Given the description of an element on the screen output the (x, y) to click on. 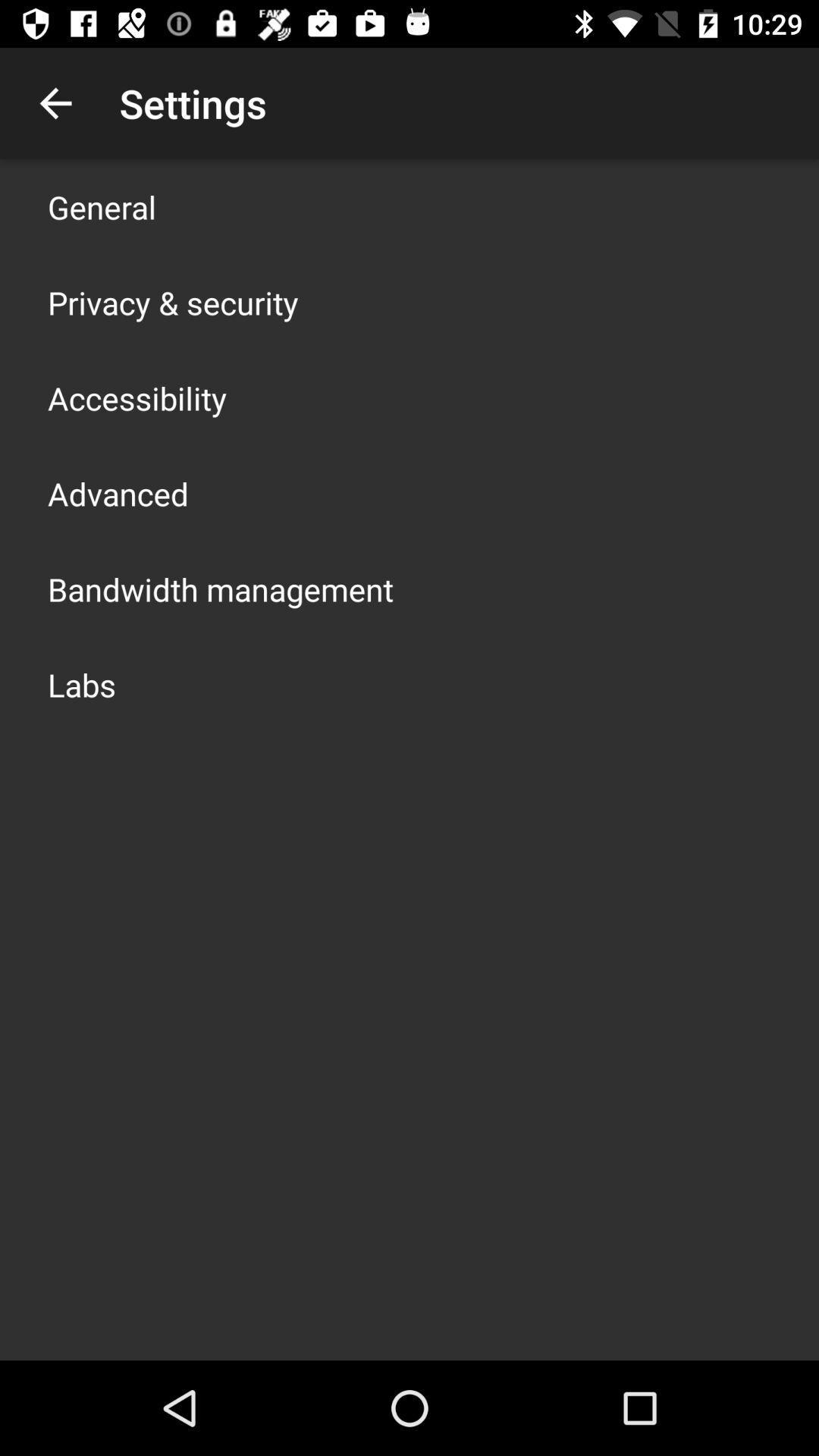
choose general item (101, 206)
